Given the description of an element on the screen output the (x, y) to click on. 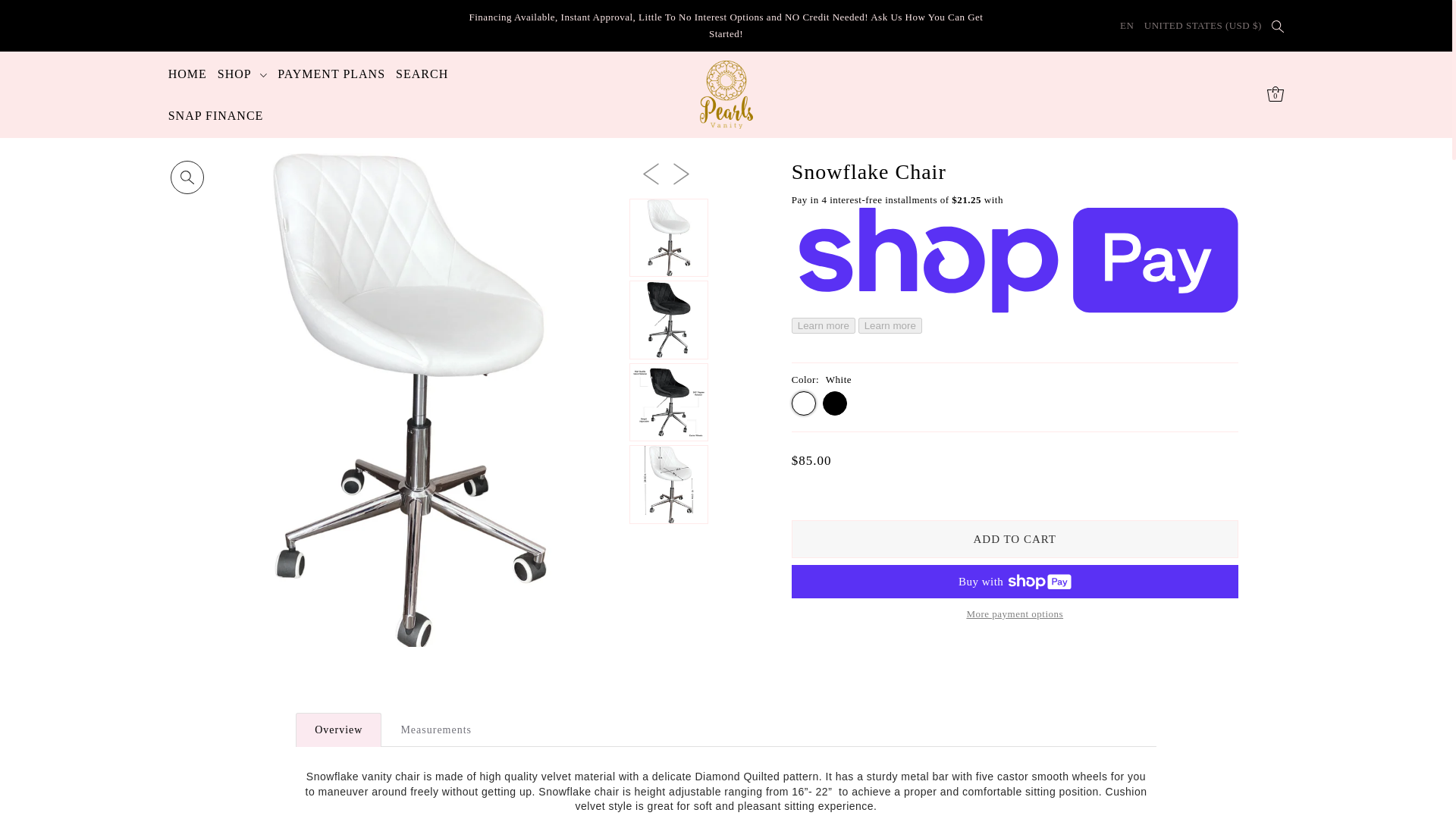
SHOP (242, 74)
HOME (187, 74)
click to zoom-in (186, 177)
